Given the description of an element on the screen output the (x, y) to click on. 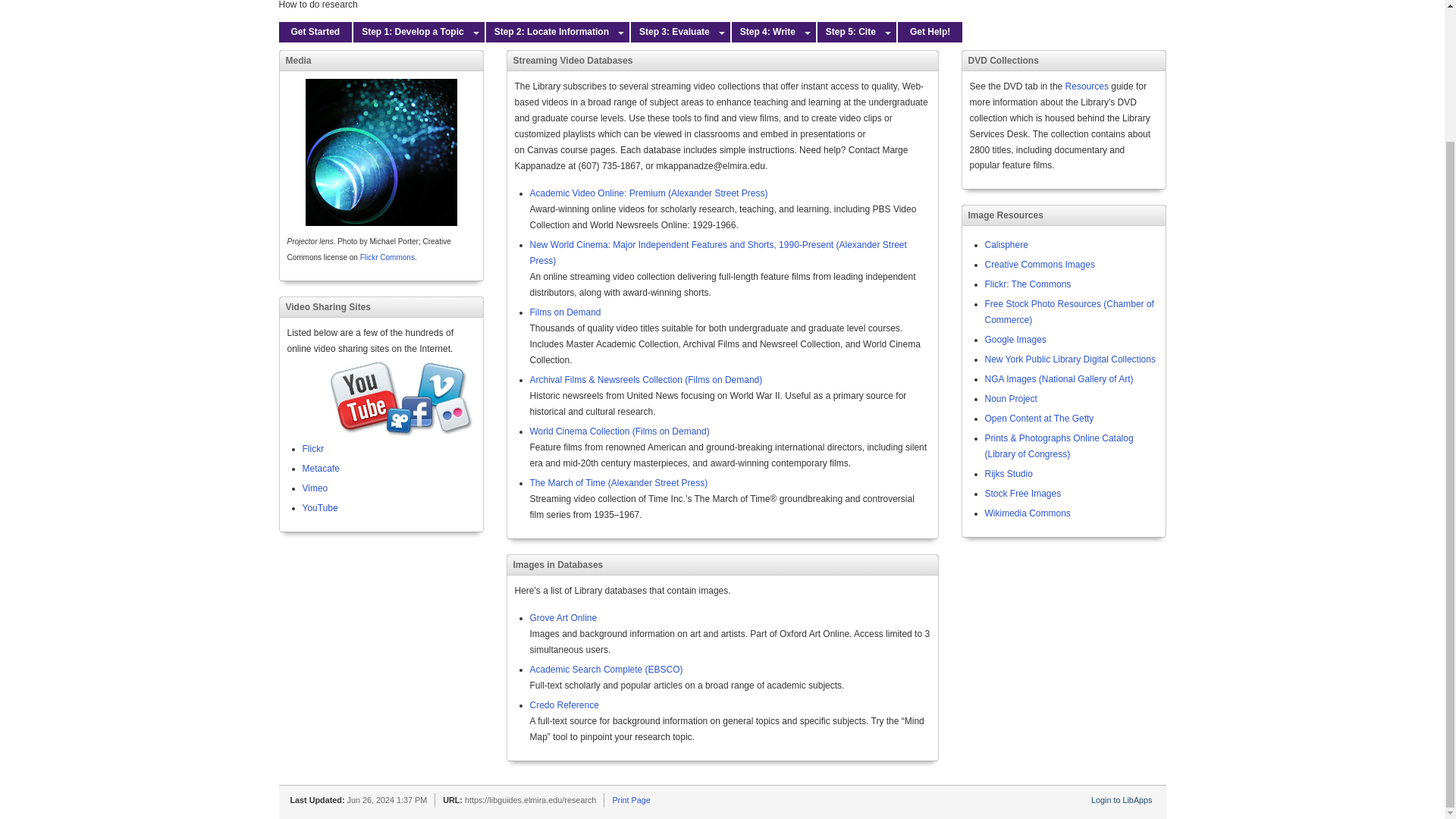
Get Started (315, 32)
Step 1: Develop a Topic (410, 32)
Step 3: Evaluate (672, 32)
Step 4: Write (765, 32)
Step 2: Locate Information (549, 32)
